Given the description of an element on the screen output the (x, y) to click on. 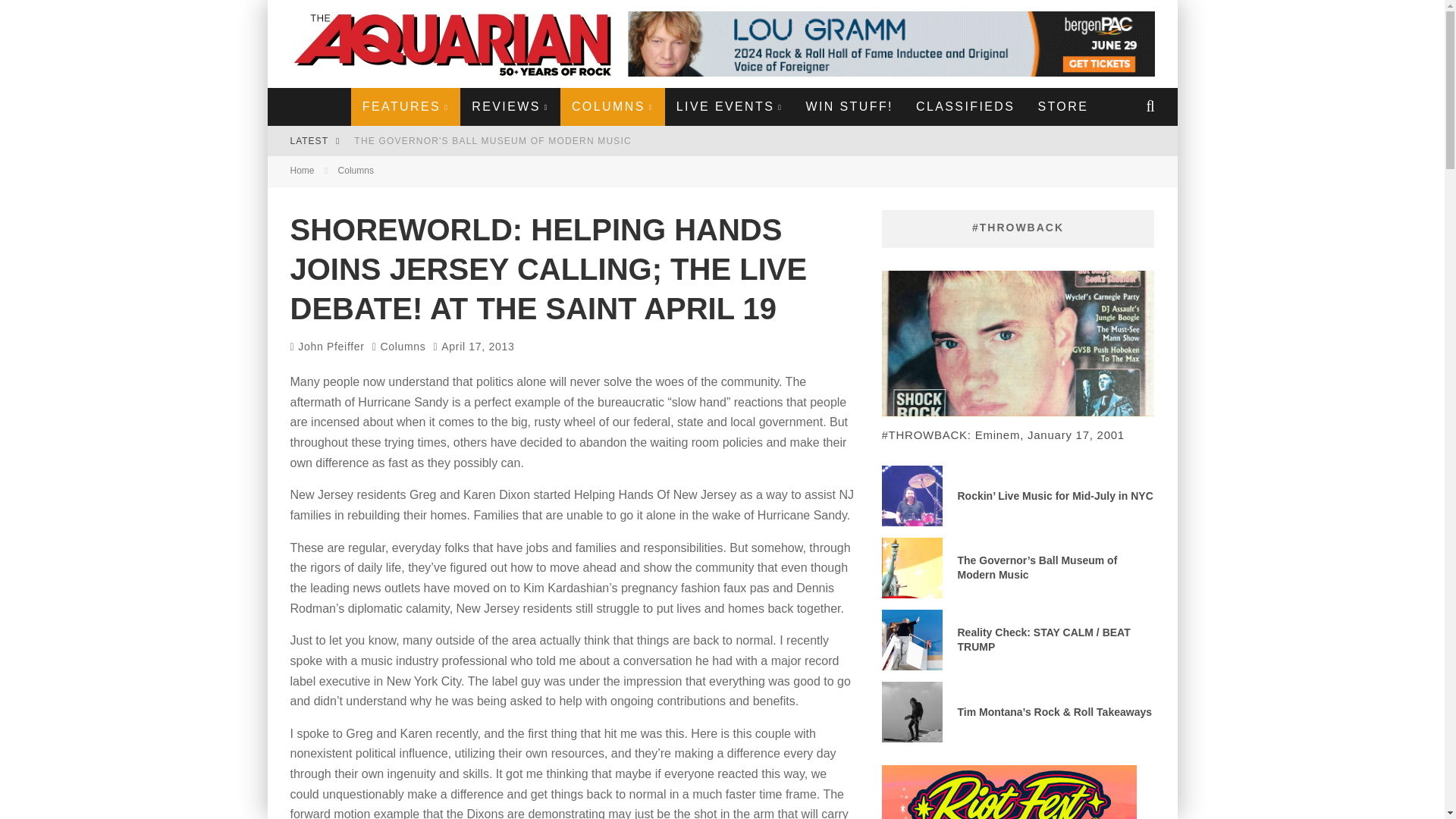
FEATURES (405, 106)
The Governor's Ball Museum of Modern Music (492, 140)
COLUMNS (612, 106)
REVIEWS (510, 106)
